Given the description of an element on the screen output the (x, y) to click on. 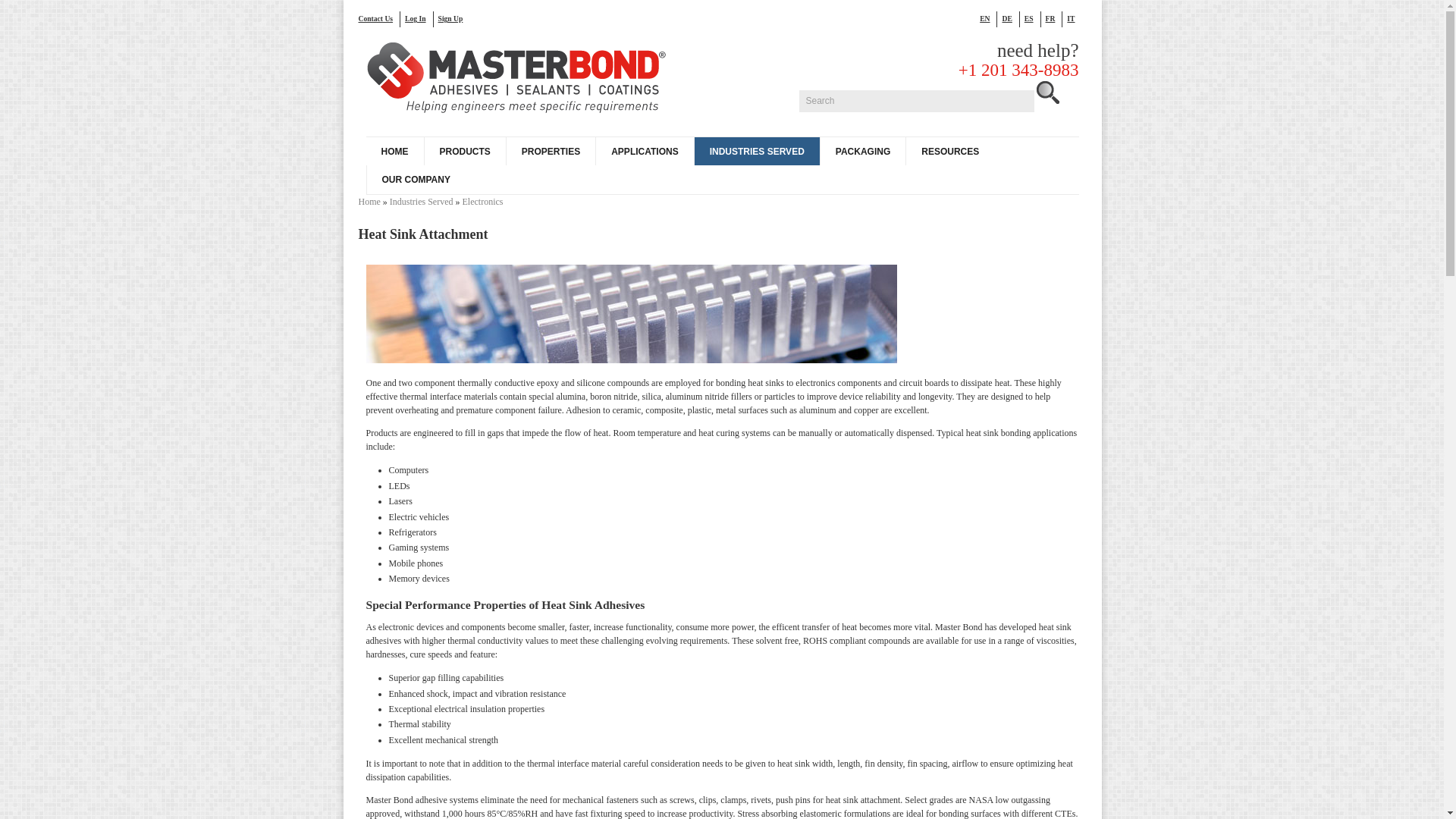
IT (1074, 18)
Sign Up (454, 18)
FR (1053, 18)
Enter the terms you wish to search for. (916, 101)
EN (988, 18)
HOME (394, 151)
Contact Us (379, 18)
PROPERTIES (550, 151)
Search (916, 101)
ES (1033, 18)
